Given the description of an element on the screen output the (x, y) to click on. 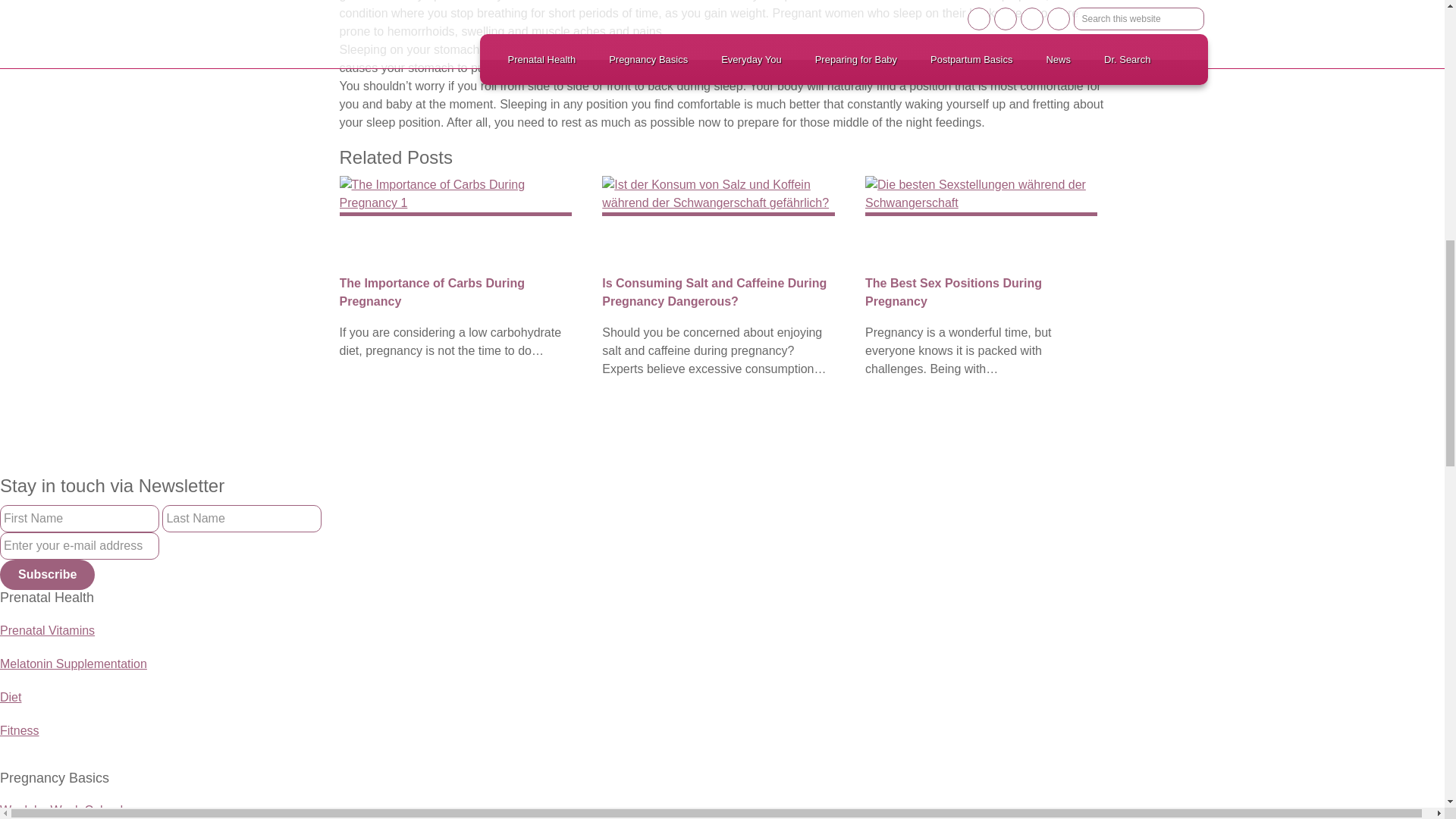
Subscribe (47, 574)
